Given the description of an element on the screen output the (x, y) to click on. 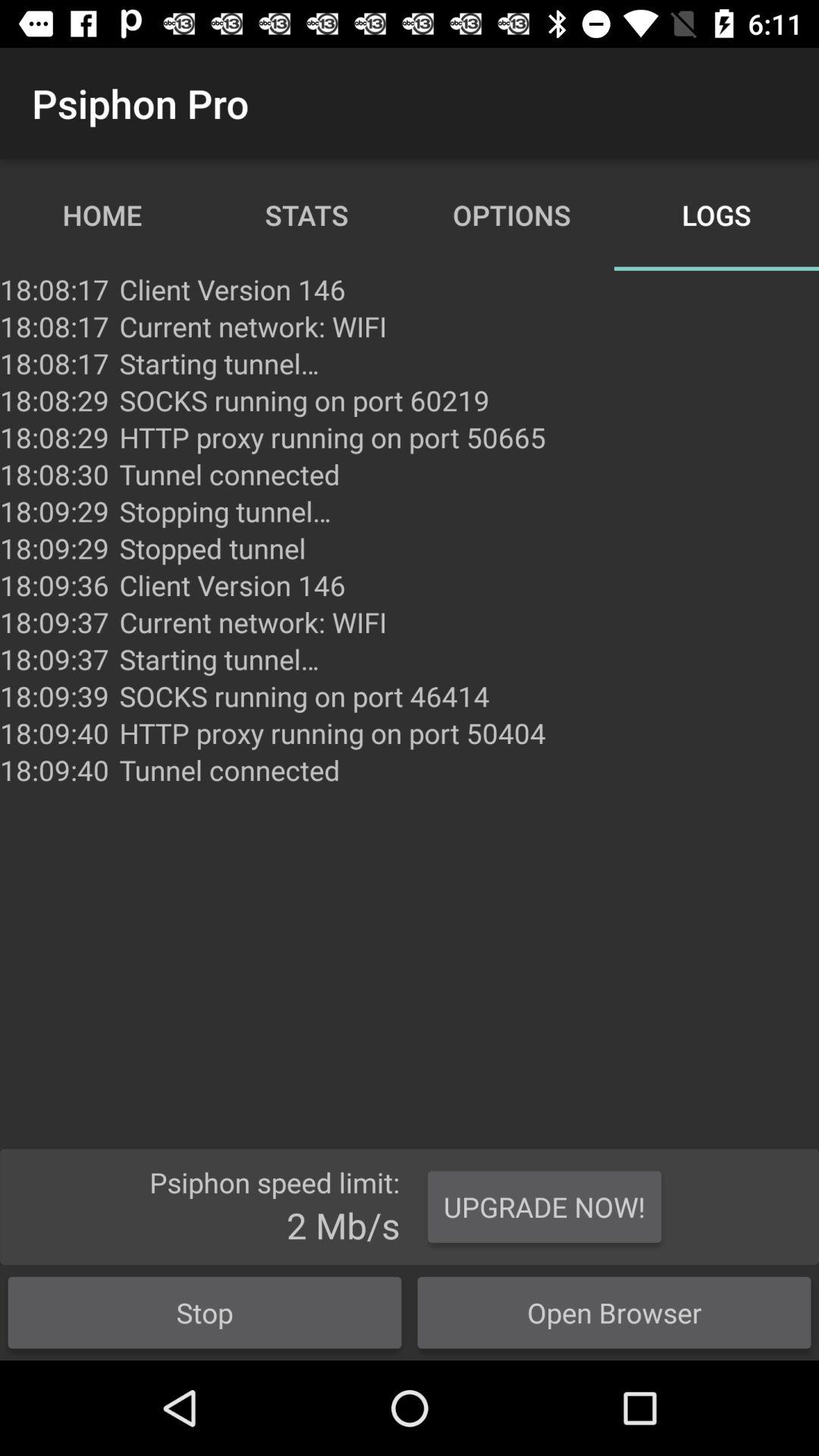
choose open browser item (614, 1312)
